Given the description of an element on the screen output the (x, y) to click on. 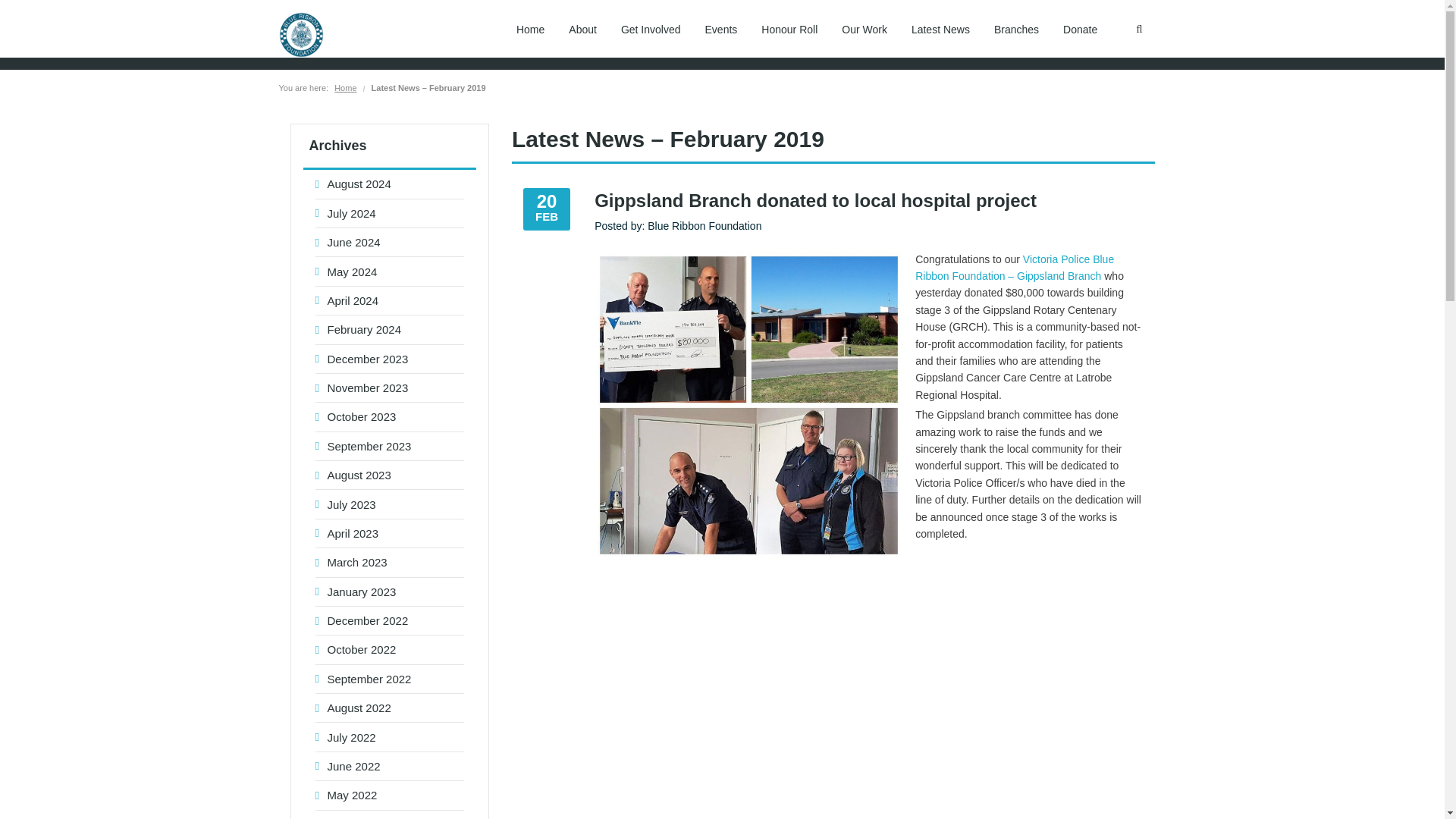
Honour Roll (789, 28)
About (582, 28)
Get Involved (650, 28)
Our Work (864, 28)
Home (529, 28)
Events (721, 28)
